Given the description of an element on the screen output the (x, y) to click on. 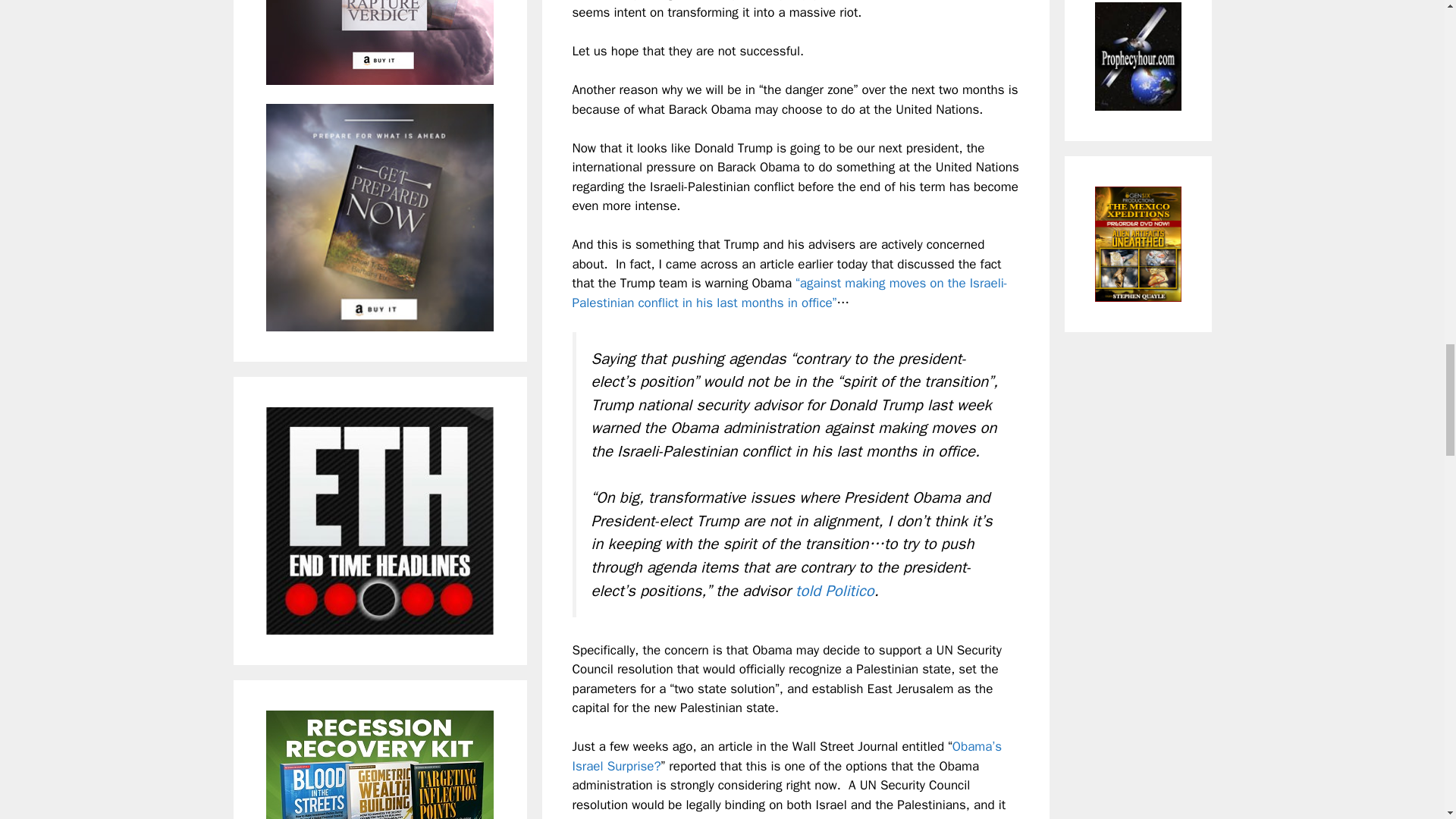
told Politico (834, 590)
told Politico (834, 590)
